Given the description of an element on the screen output the (x, y) to click on. 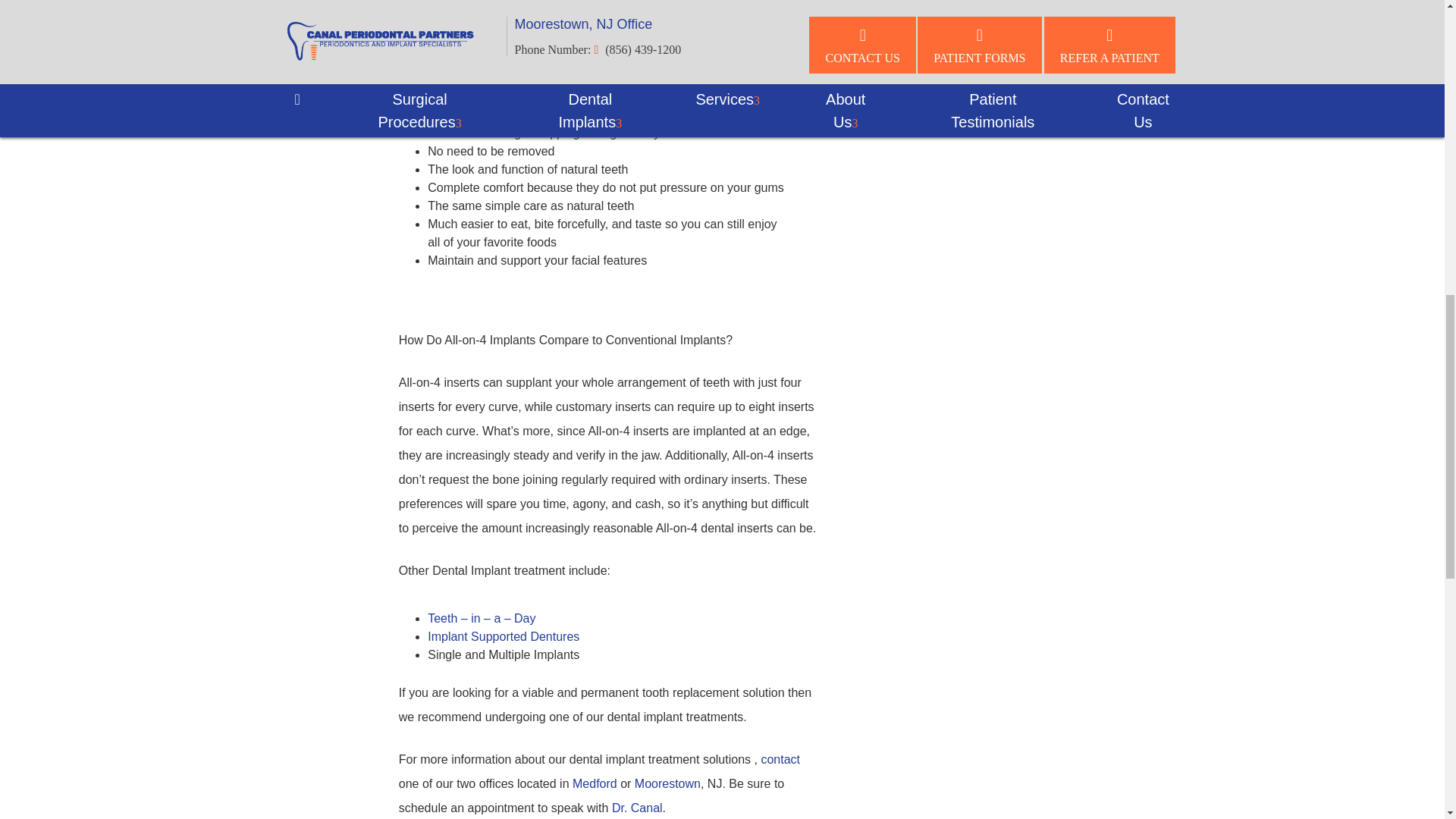
Implant Supported Dentures  (505, 635)
All-on-4 implants (445, 18)
contact (779, 758)
